Given the description of an element on the screen output the (x, y) to click on. 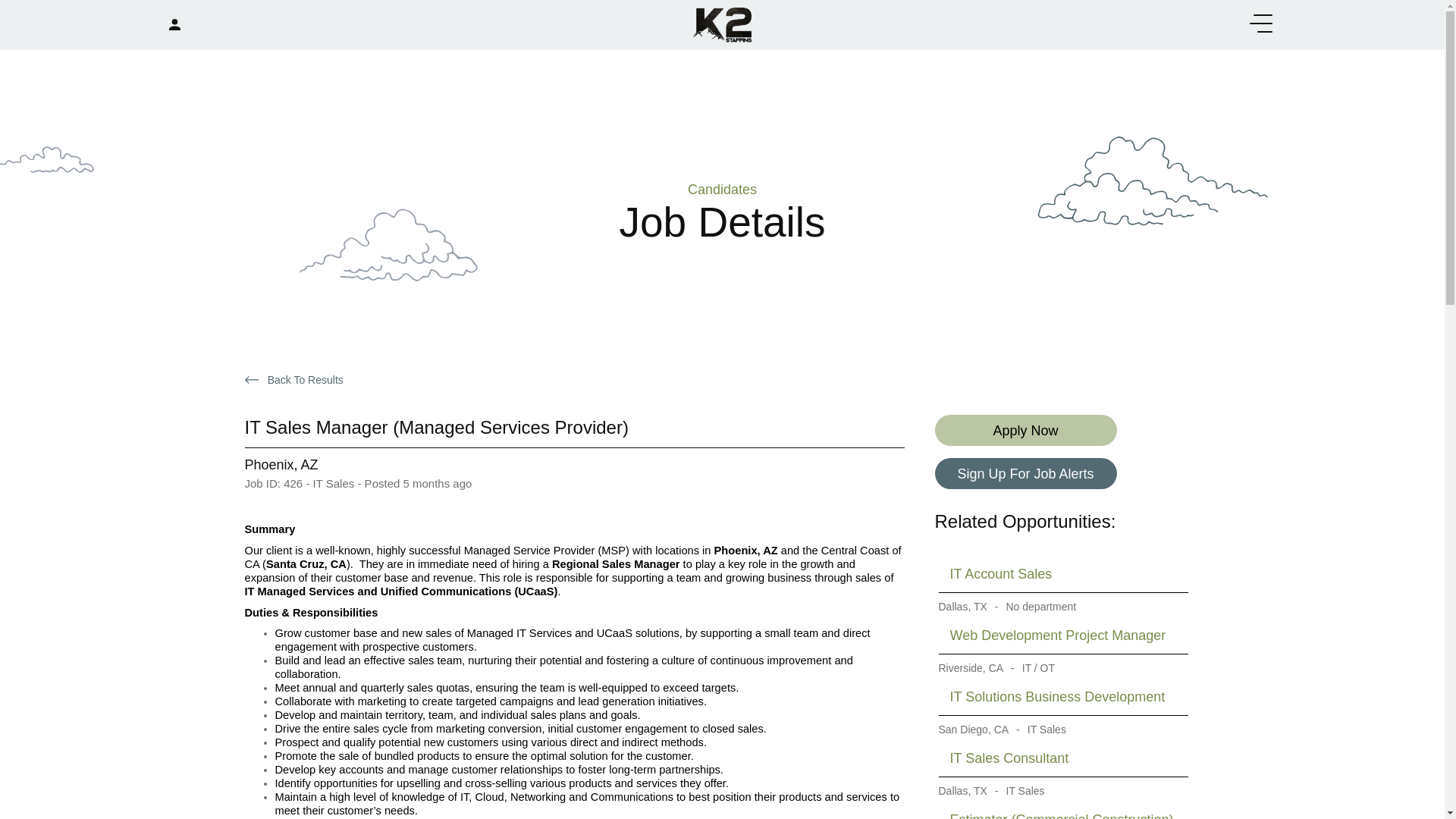
Web Development Project Manager (1062, 635)
Apply Now (1025, 429)
IT Account Sales (1062, 573)
Back To Results (297, 378)
K2 Staffing Logo (722, 23)
IT Sales Consultant (1062, 758)
User Login Icon (173, 24)
Sign Up For Job Alerts (1025, 472)
IT Solutions Business Development (1062, 696)
